Given the description of an element on the screen output the (x, y) to click on. 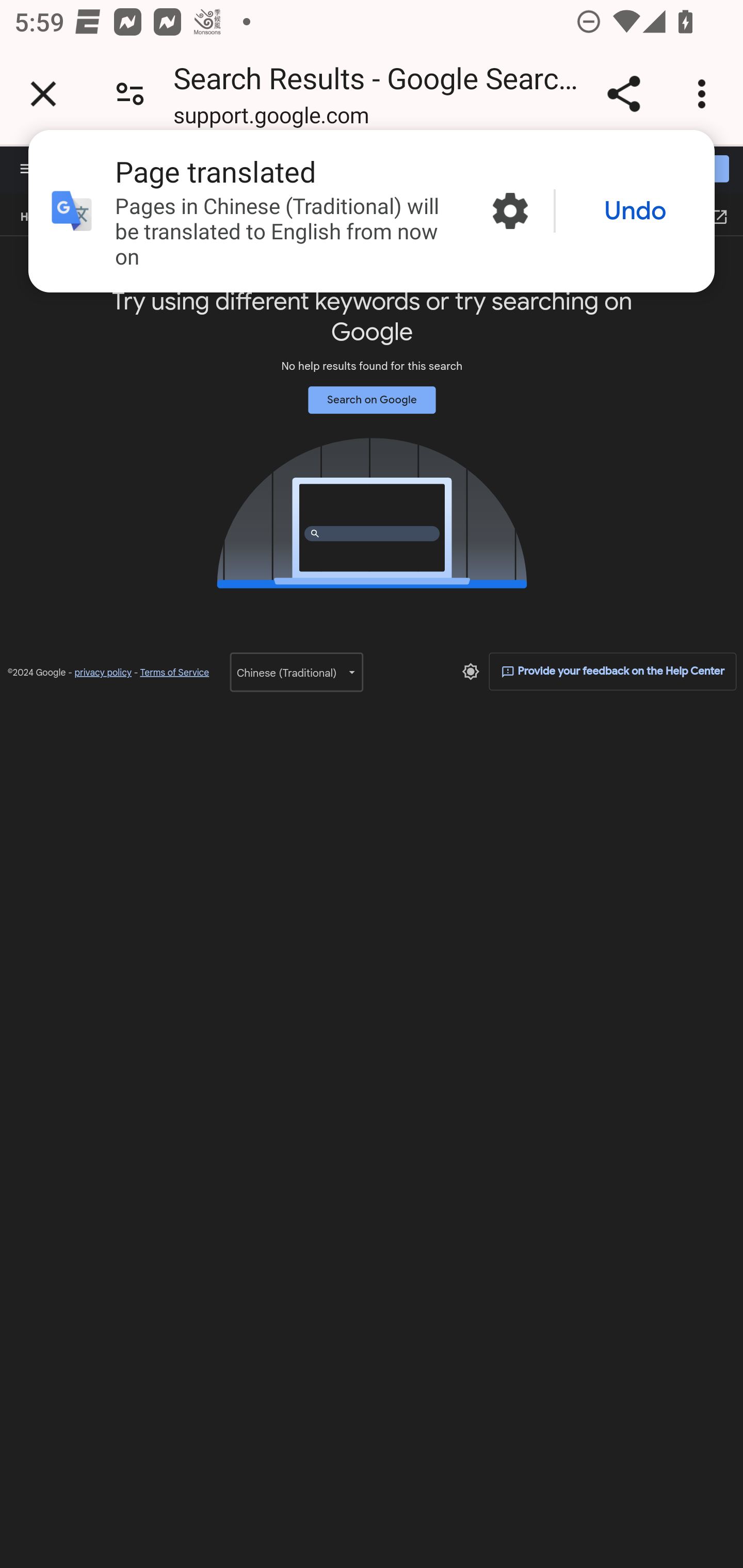
Close tab (43, 93)
Share (623, 93)
Customize and control Google Chrome (705, 93)
Connection is secure (129, 93)
support.google.com (271, 117)
Undo (634, 211)
More options in the Page translated (509, 210)
Search on Google (371, 399)
Select language (Chinese (Traditional)‎) (295, 671)
Provide your feedback on the Help Center (612, 670)
Disable dark mode (470, 670)
privacy policy (103, 672)
Terms of Service (174, 672)
